Given the description of an element on the screen output the (x, y) to click on. 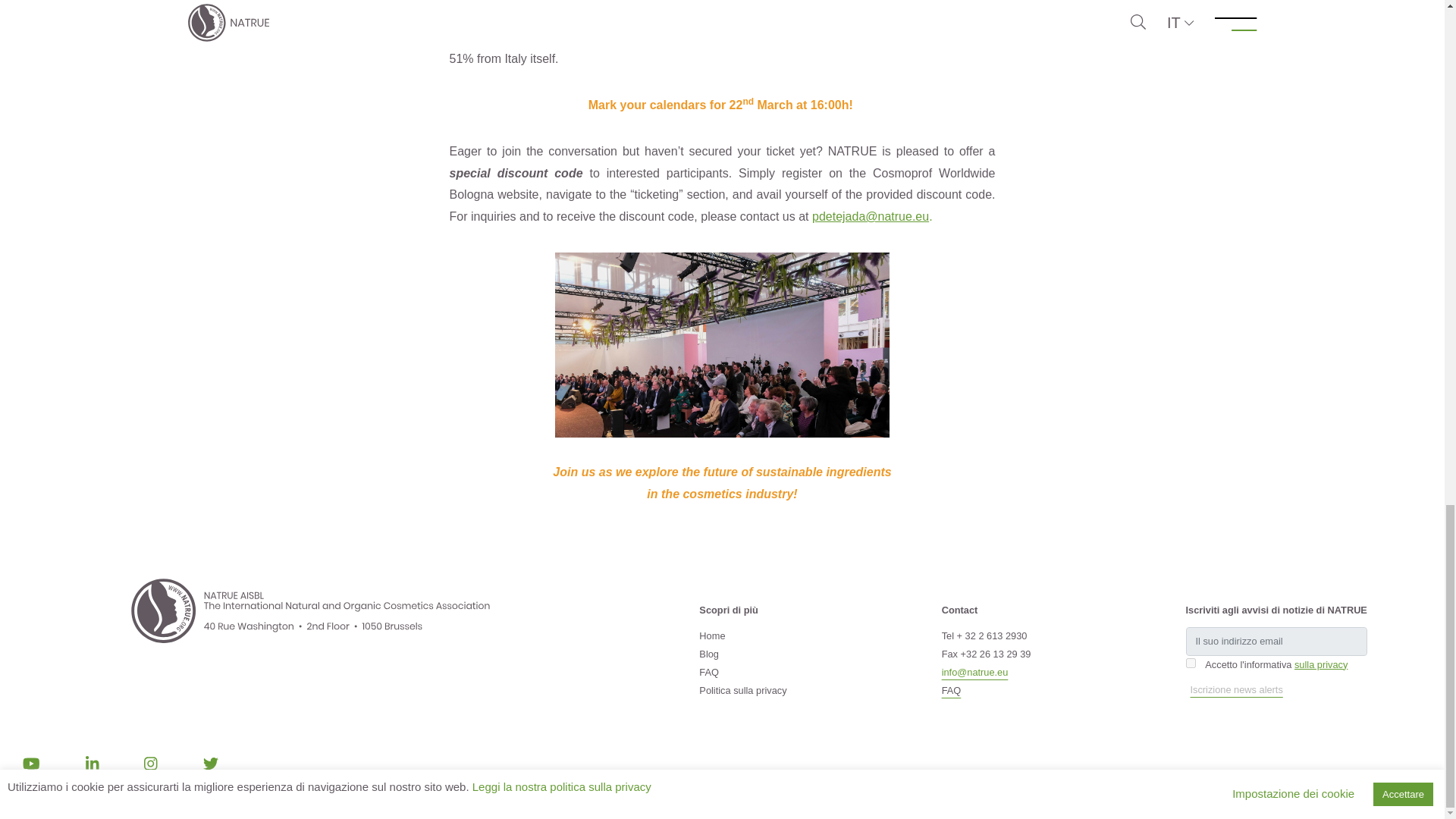
FAQ (708, 672)
Home (711, 635)
FAQ (951, 690)
Iscrizione news alerts (1236, 690)
Iscrizione news alerts (1236, 690)
sulla privacy (1321, 664)
Politica sulla privacy (742, 690)
Blog (708, 654)
on (1190, 663)
